Given the description of an element on the screen output the (x, y) to click on. 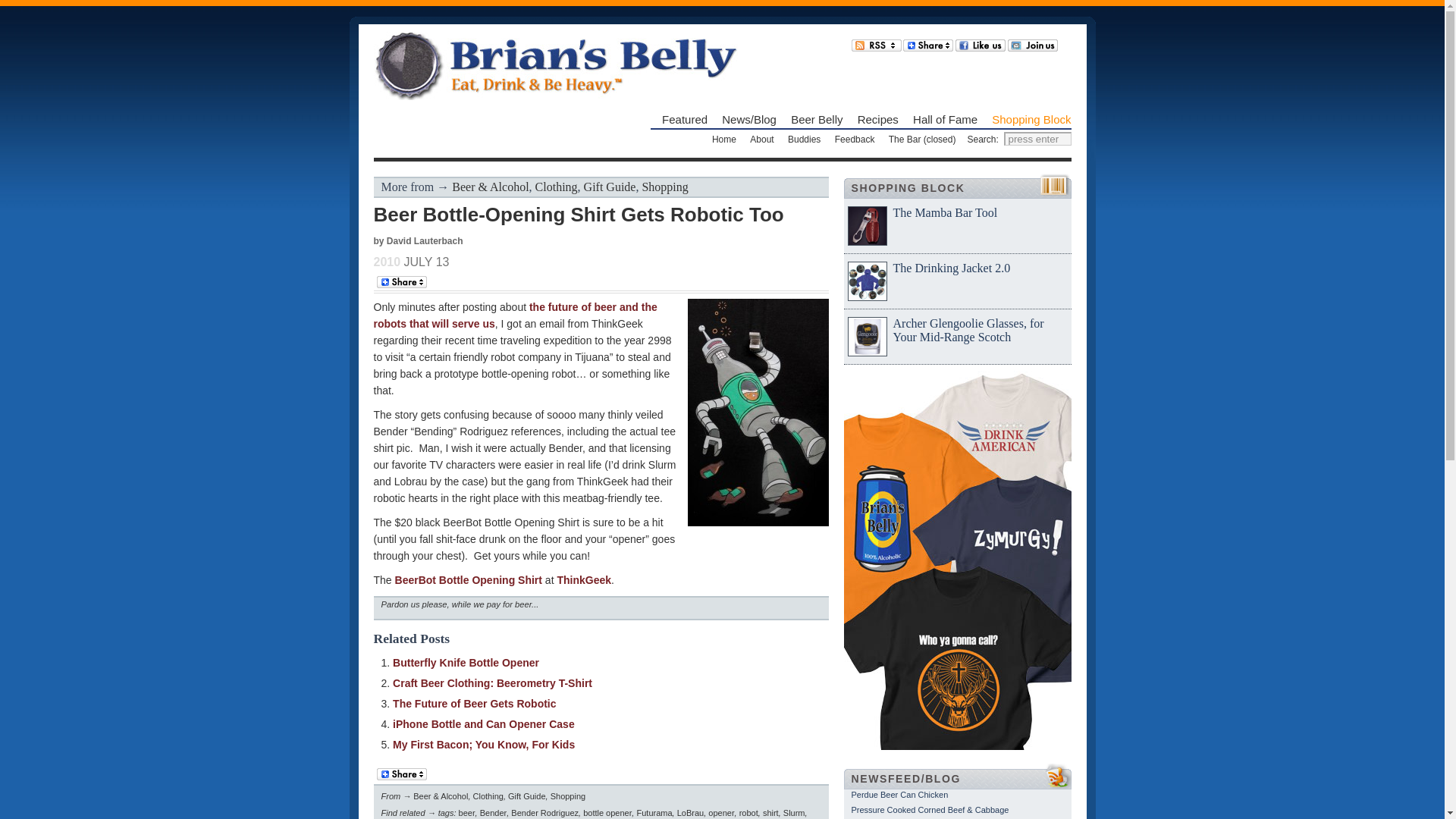
Featured (684, 119)
Beer Belly (816, 119)
Recipes (877, 119)
Home (723, 139)
The Future of Beer Gets Robotic (474, 703)
Clothing (556, 186)
Gift Guide (609, 186)
Shopping (664, 186)
ThinkGeek (583, 580)
Buddies (804, 139)
